Given the description of an element on the screen output the (x, y) to click on. 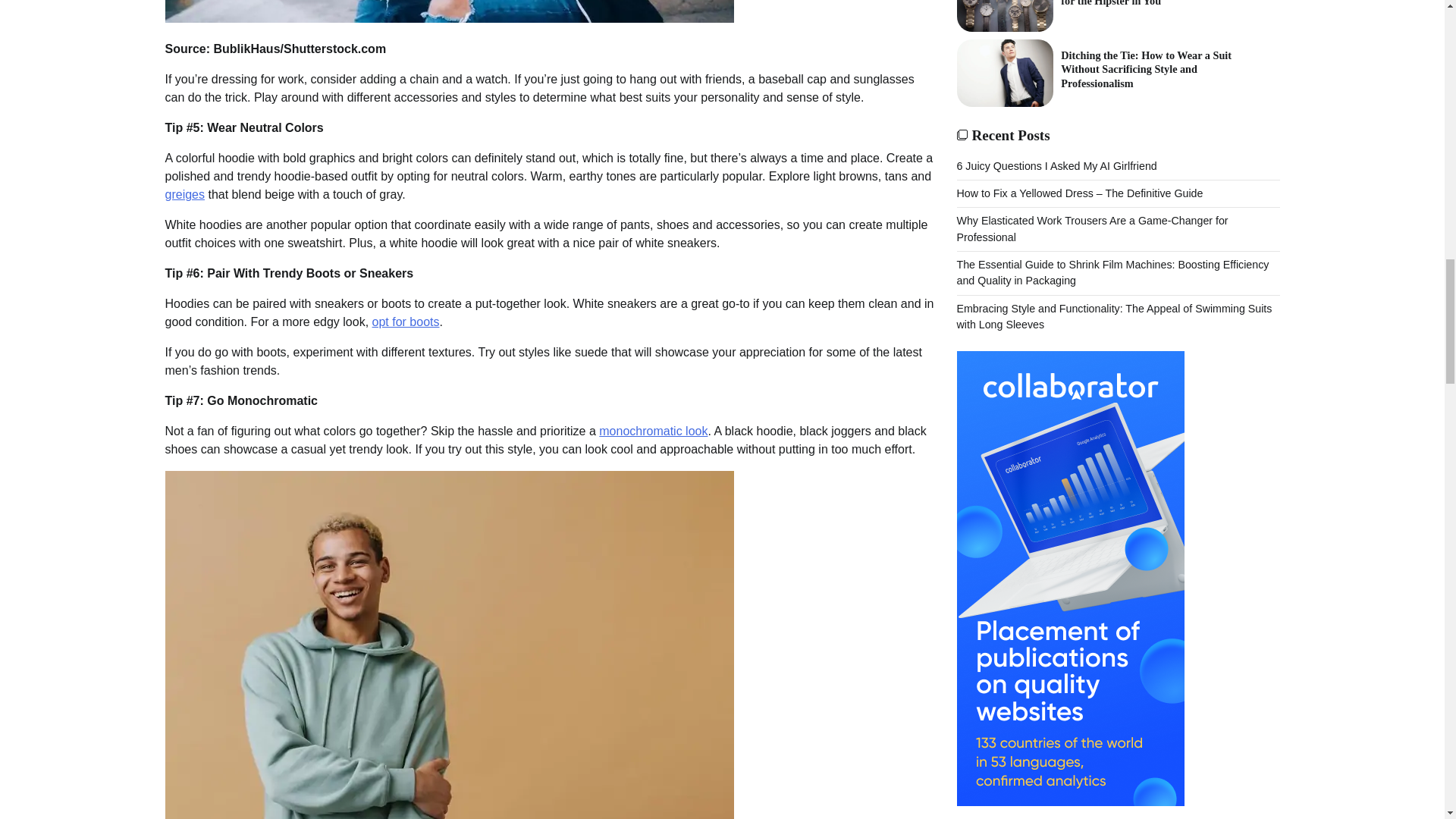
monochromatic look (652, 431)
greiges (185, 194)
opt for boots (405, 321)
